Given the description of an element on the screen output the (x, y) to click on. 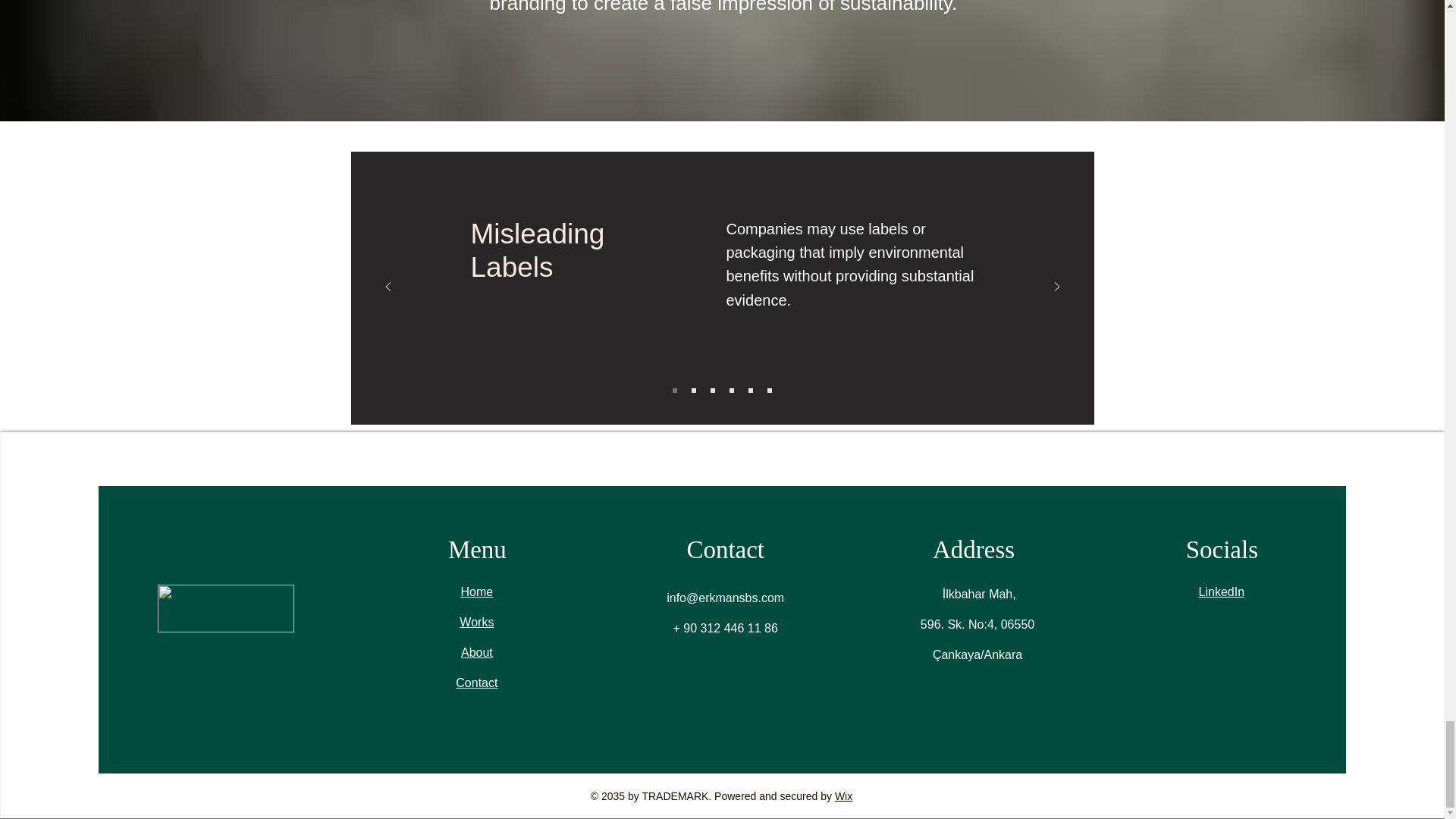
Contact (476, 682)
LinkedIn (1221, 591)
Wix (842, 796)
Home (477, 591)
Works (476, 621)
About (477, 652)
